Given the description of an element on the screen output the (x, y) to click on. 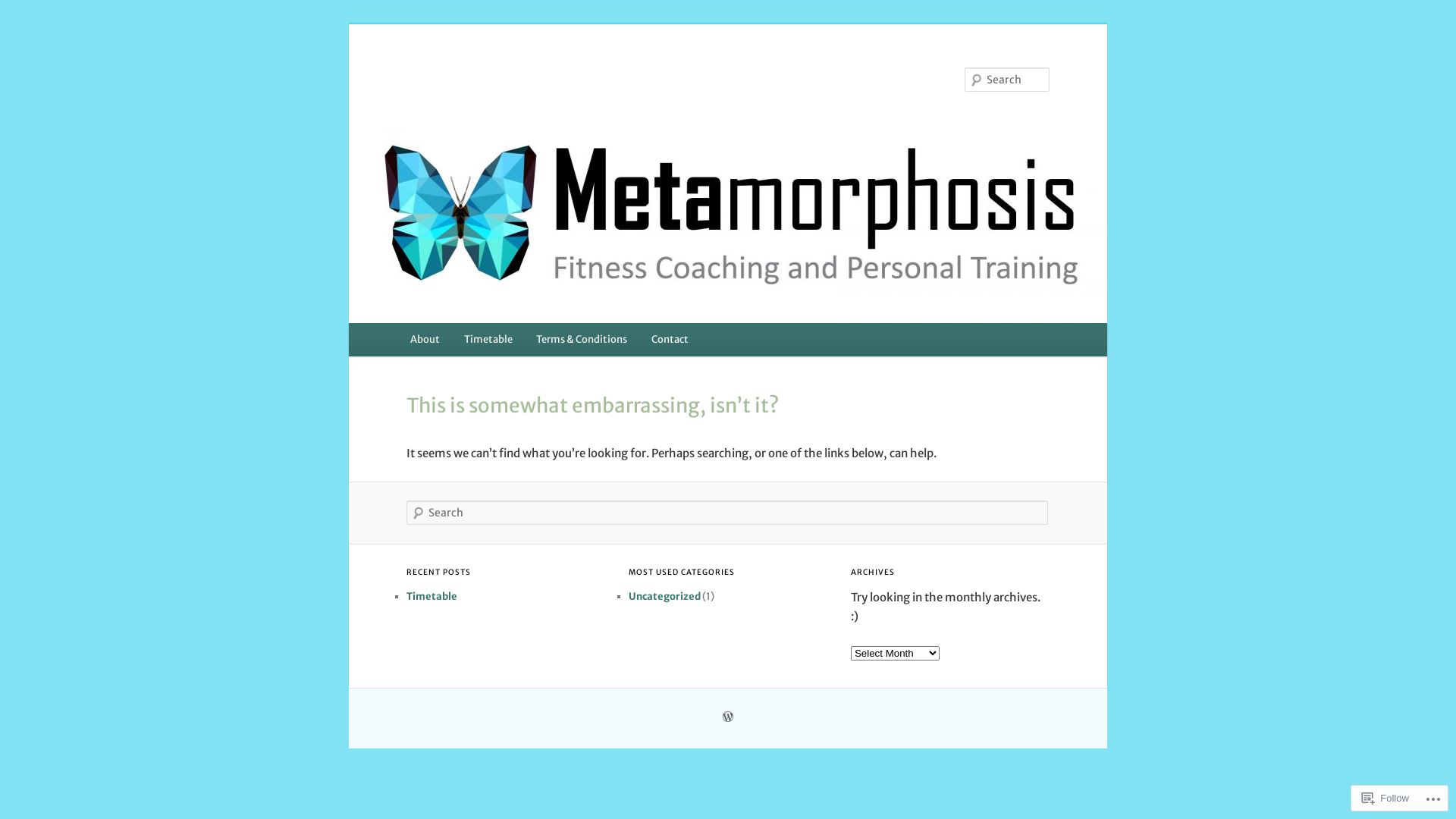
Follow Element type: text (1385, 797)
Skip to primary content Element type: text (22, 22)
Terms & Conditions Element type: text (581, 339)
About Element type: text (424, 339)
Create a website or blog at WordPress.com Element type: text (727, 717)
Contact Element type: text (669, 339)
Search Element type: text (23, 9)
Timetable Element type: text (431, 595)
Timetable Element type: text (487, 339)
Uncategorized Element type: text (664, 595)
